Given the description of an element on the screen output the (x, y) to click on. 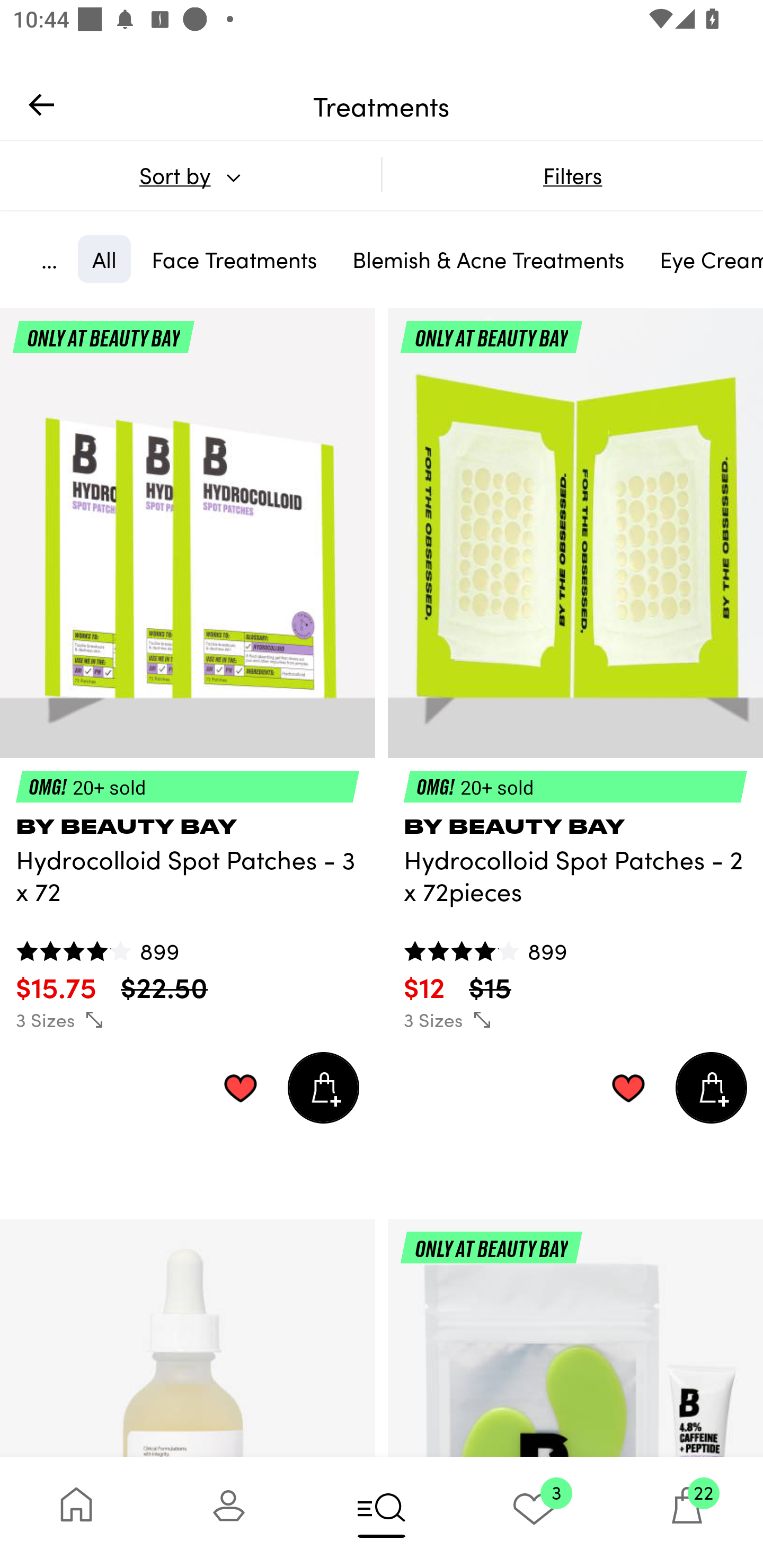
Sort by (190, 174)
Filters (572, 174)
... (48, 258)
All (104, 258)
Face Treatments (234, 258)
Blemish & Acne Treatments (488, 258)
Eye Creams & Treatments (704, 258)
3 (533, 1512)
22 (686, 1512)
